Given the description of an element on the screen output the (x, y) to click on. 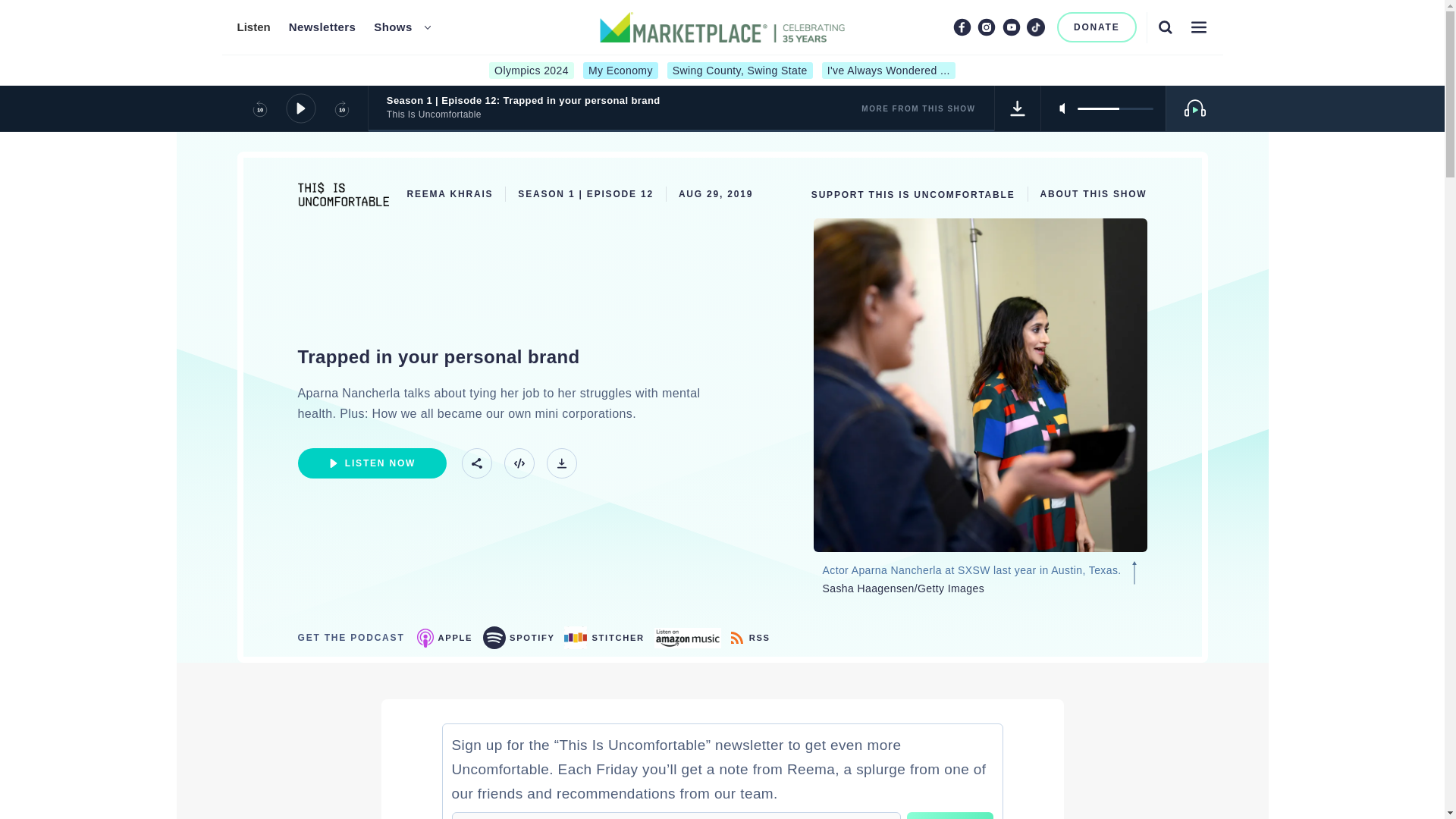
Search (1164, 27)
Menu (1198, 27)
Newsletters (322, 27)
DONATE (1097, 27)
Download Track (561, 462)
Listen Now (371, 462)
volume (1115, 108)
TikTok (1035, 27)
Listen (252, 26)
Download Track (1017, 108)
